Given the description of an element on the screen output the (x, y) to click on. 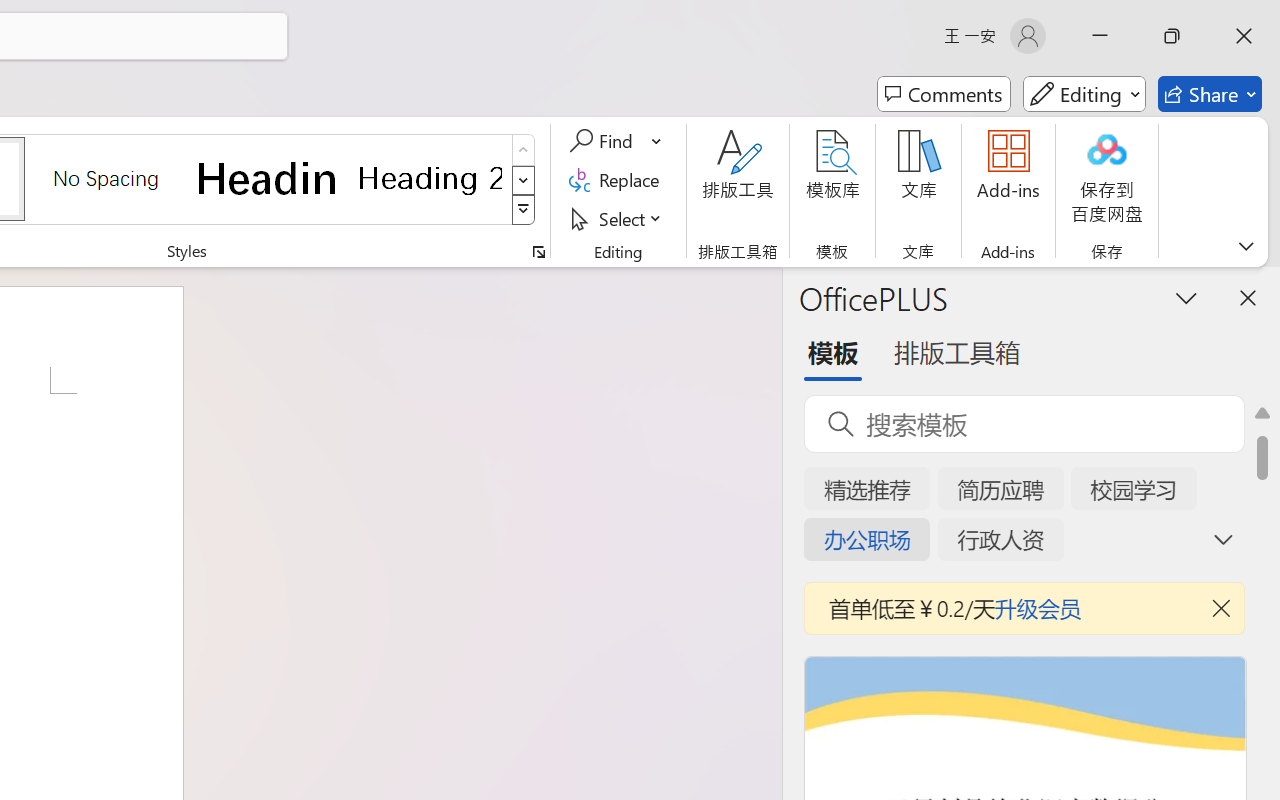
Mode (1083, 94)
Find (604, 141)
Styles (523, 209)
Share (1210, 94)
Replace... (617, 179)
